Given the description of an element on the screen output the (x, y) to click on. 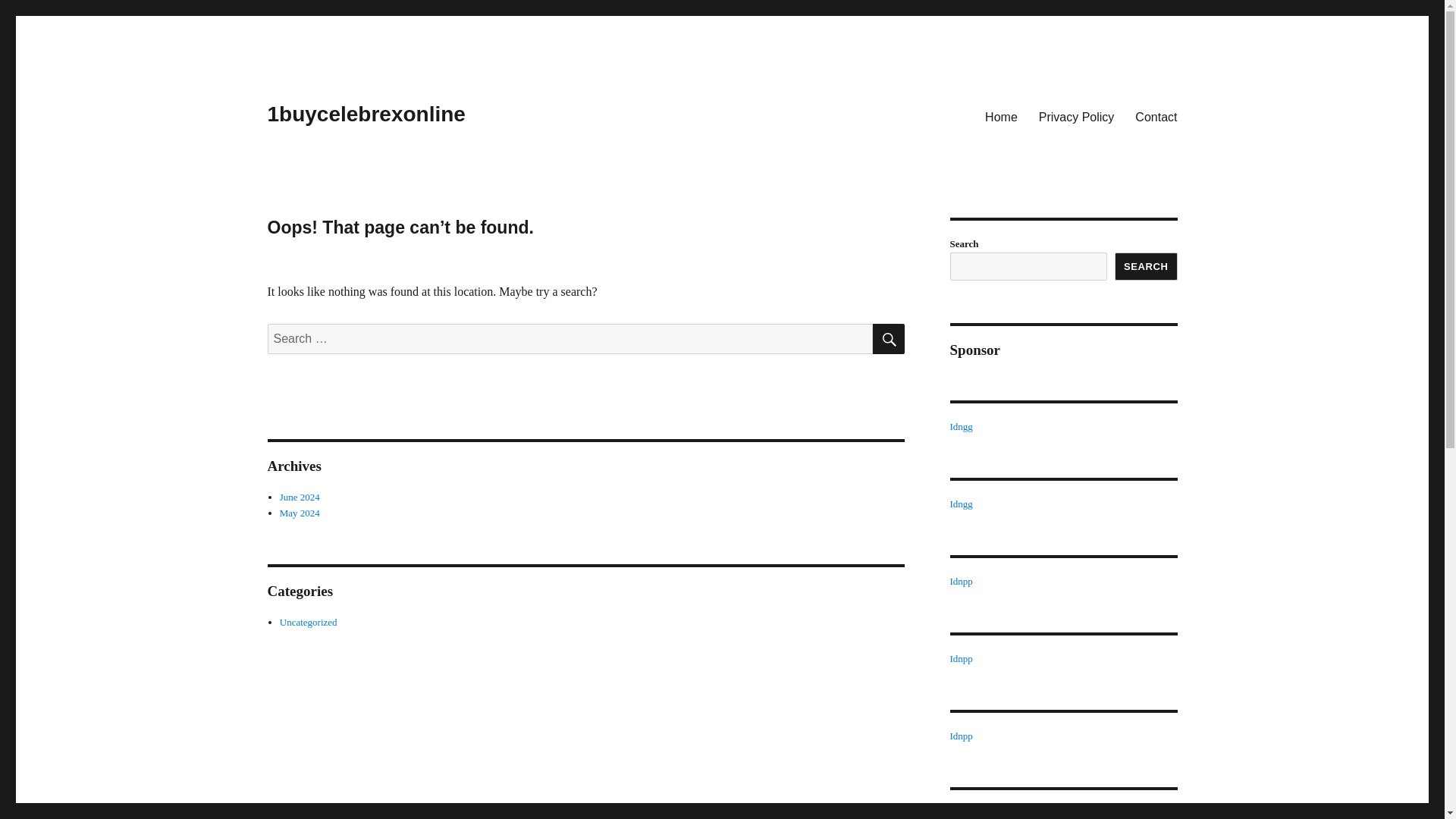
Idnpp (960, 736)
June 2024 (299, 496)
1buycelebrexonline (365, 114)
Idnpp (960, 581)
Idnpp (960, 813)
Privacy Policy (1076, 116)
Idngg (960, 426)
SEARCH (1146, 266)
May 2024 (299, 512)
Uncategorized (308, 622)
Idnpp (960, 658)
Contact (1156, 116)
Idngg (960, 503)
SEARCH (888, 338)
Home (1000, 116)
